Given the description of an element on the screen output the (x, y) to click on. 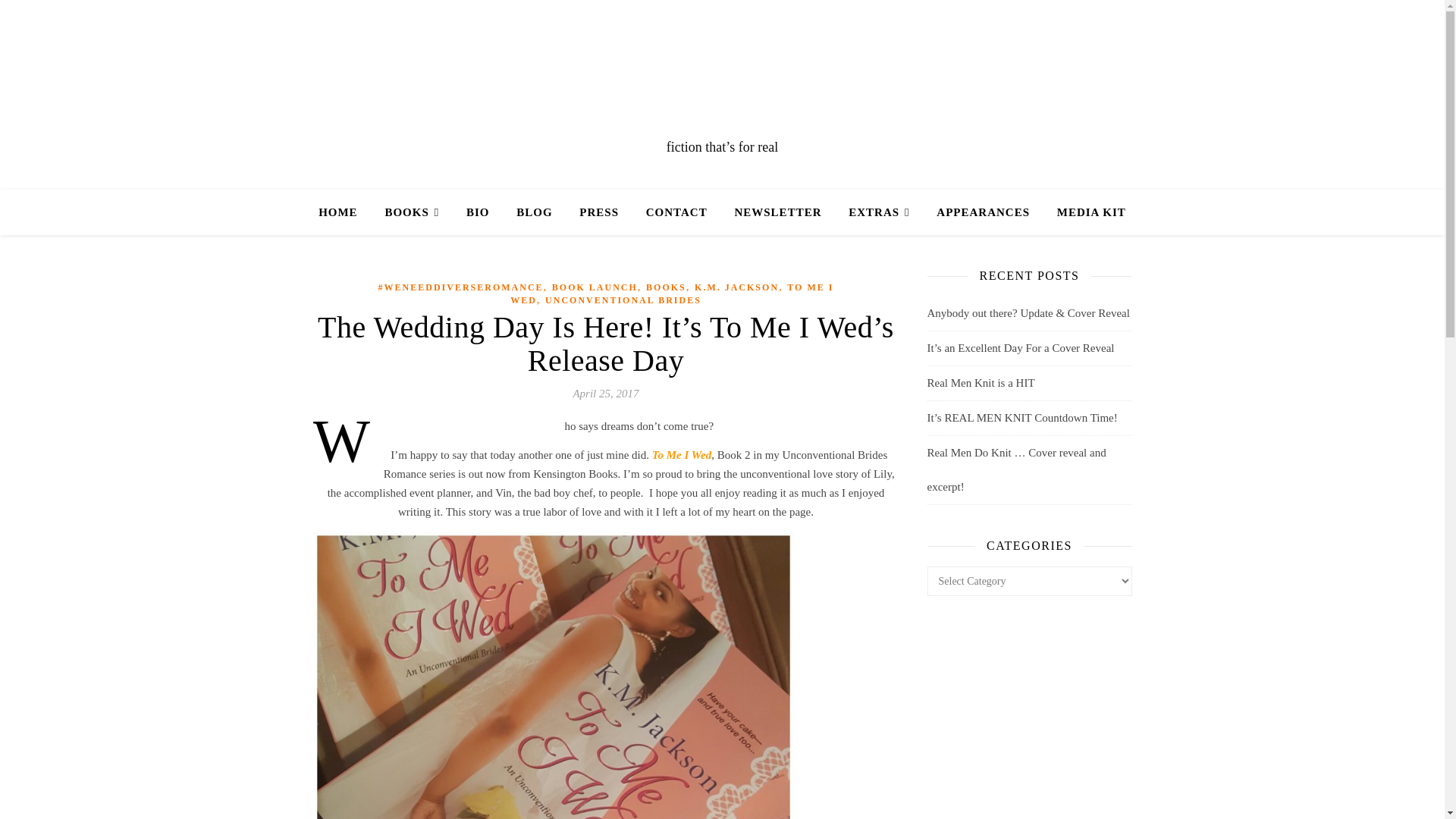
CONTACT (676, 212)
NEWSLETTER (777, 212)
EXTRAS (878, 212)
MEDIA KIT (1085, 212)
BLOG (533, 212)
HOME (343, 212)
APPEARANCES (983, 212)
PRESS (598, 212)
BOOKS (411, 212)
BIO (478, 212)
